Given the description of an element on the screen output the (x, y) to click on. 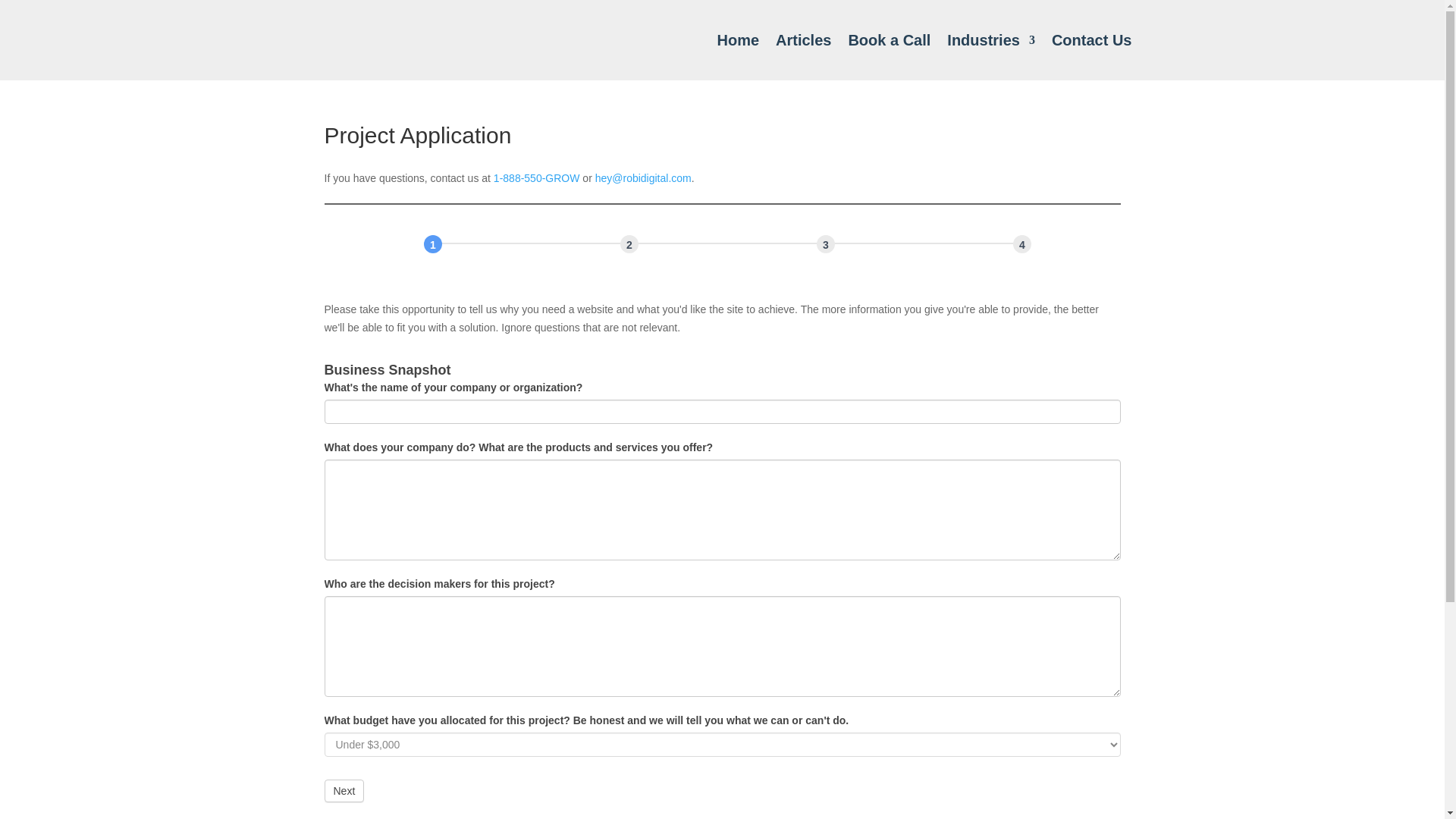
Next (344, 790)
2 (629, 244)
3 (825, 244)
1 (432, 244)
Book a Call (888, 39)
4 (1021, 244)
1-888-550-GROW (536, 177)
Next (344, 790)
Industries (991, 39)
Contact Us (1091, 39)
Articles (803, 39)
